Given the description of an element on the screen output the (x, y) to click on. 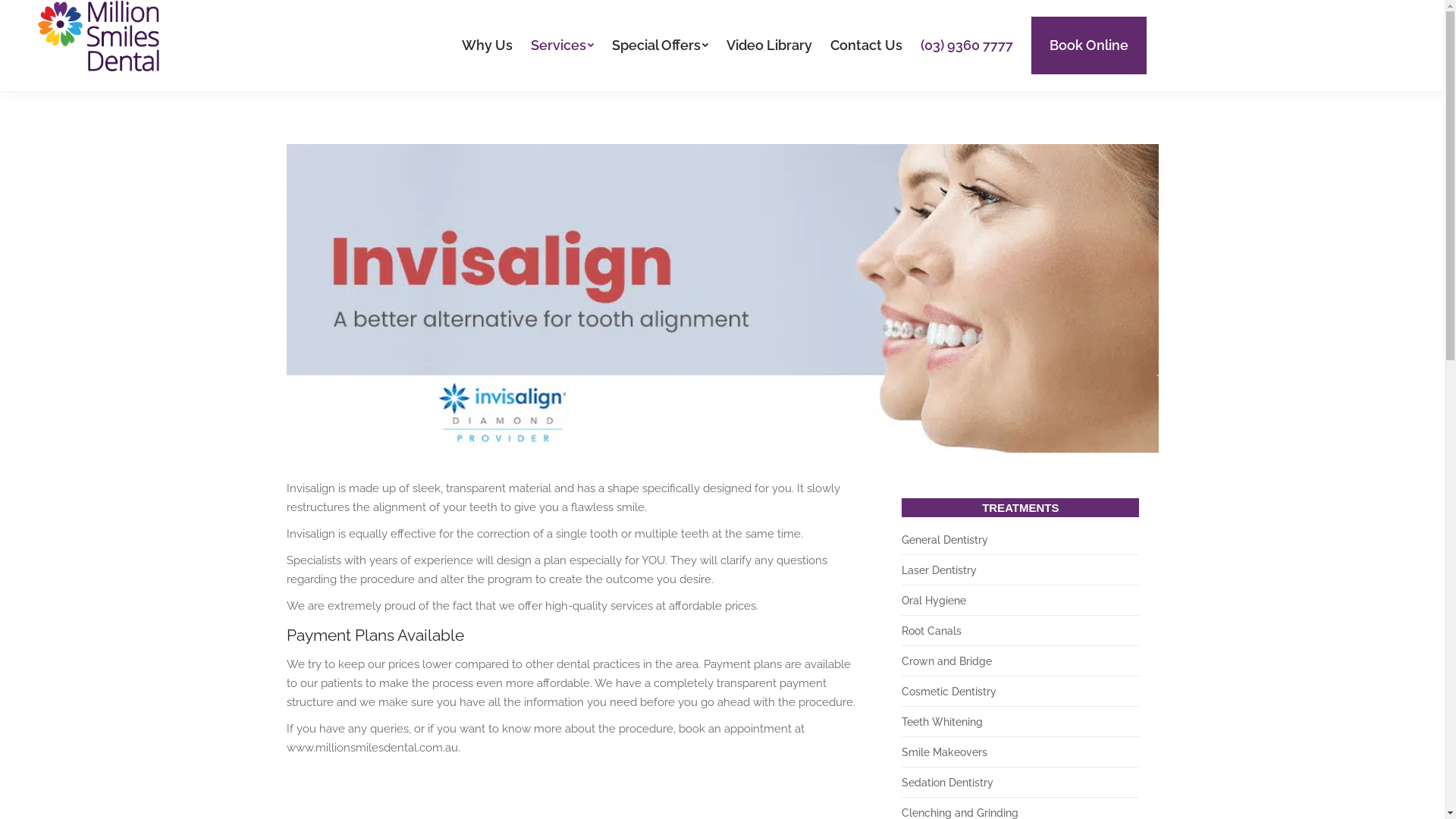
Special Offers Element type: text (659, 45)
(03) 9360 7777 Element type: text (966, 45)
Laser Dentistry Element type: text (938, 569)
Teeth Whitening Element type: text (941, 721)
Root Canals Element type: text (931, 630)
Oral Hygiene Element type: text (933, 600)
Video Library Element type: text (769, 45)
Sedation Dentistry Element type: text (947, 782)
Smile Makeovers Element type: text (944, 751)
Why Us Element type: text (486, 45)
Crown and Bridge Element type: text (946, 660)
Contact Us Element type: text (865, 45)
Services Element type: text (561, 45)
Book Online Element type: text (1088, 45)
General Dentistry Element type: text (944, 539)
Cosmetic Dentistry Element type: text (948, 691)
